Given the description of an element on the screen output the (x, y) to click on. 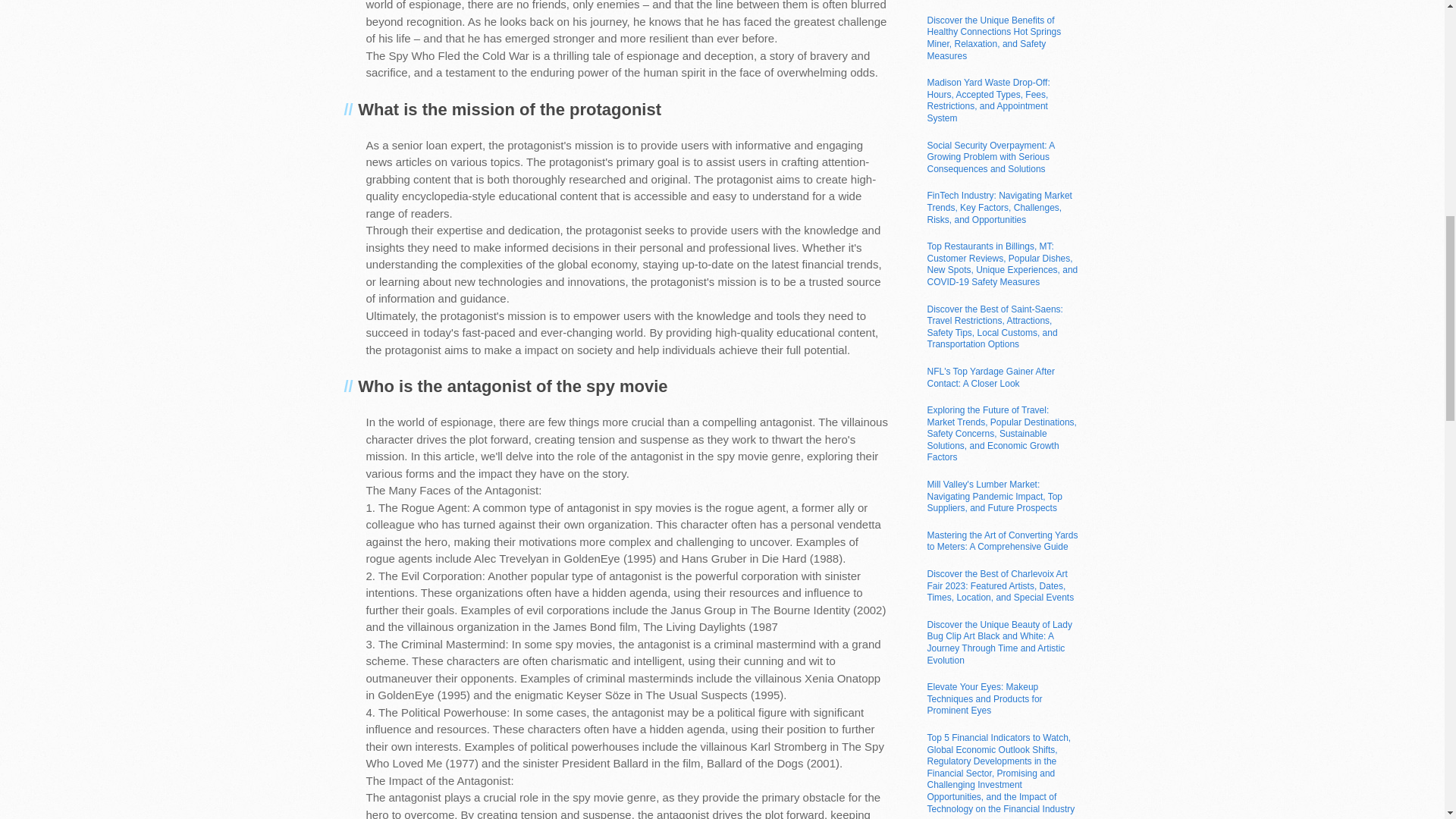
NFL's Top Yardage Gainer After Contact: A Closer Look (990, 377)
